Given the description of an element on the screen output the (x, y) to click on. 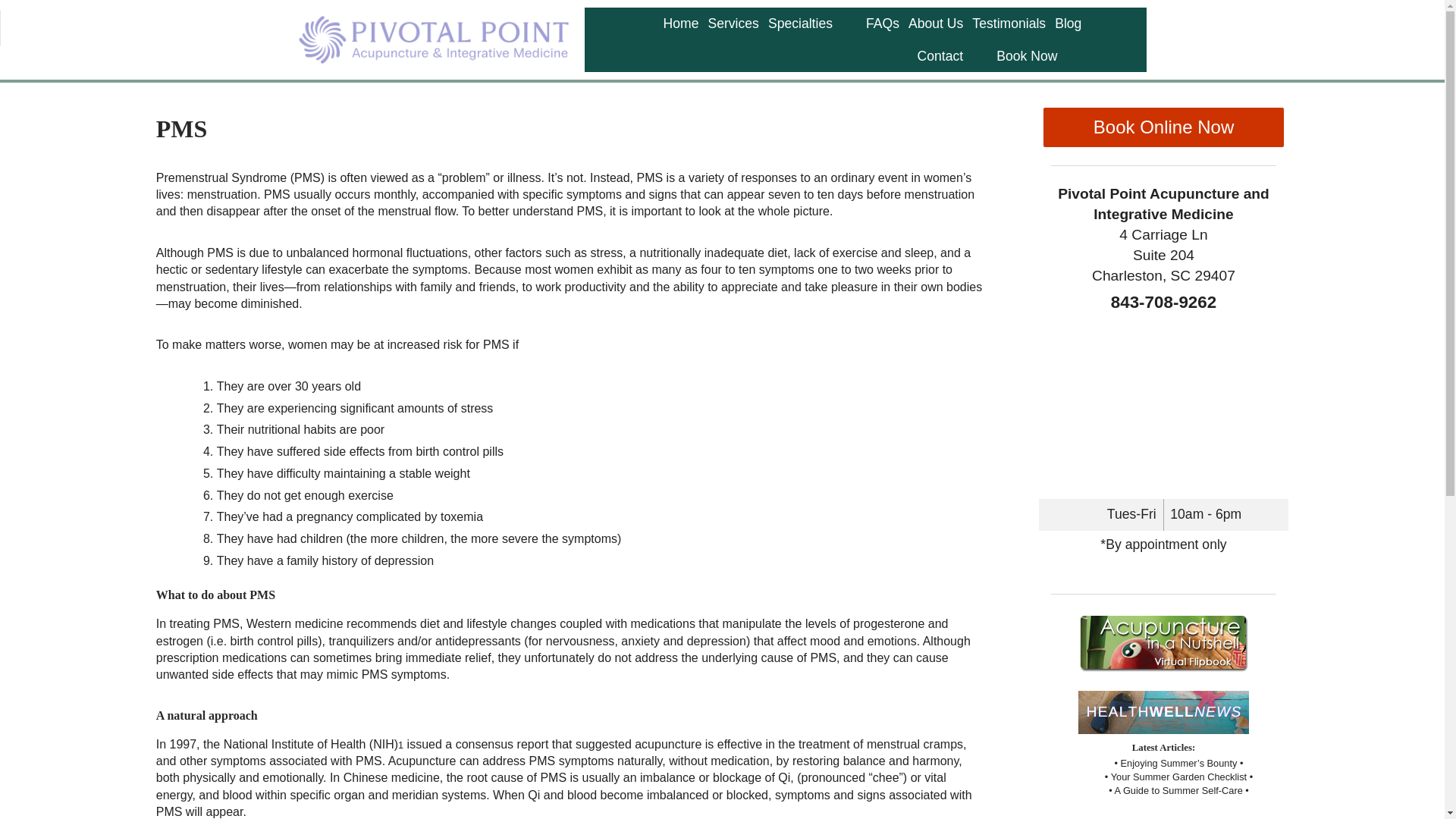
Blog (1067, 23)
Contact (940, 56)
Specialties (799, 23)
Book Now (1026, 56)
About Us (936, 23)
FAQs (882, 23)
Testimonials (1008, 23)
Services (732, 23)
Home (680, 23)
